Given the description of an element on the screen output the (x, y) to click on. 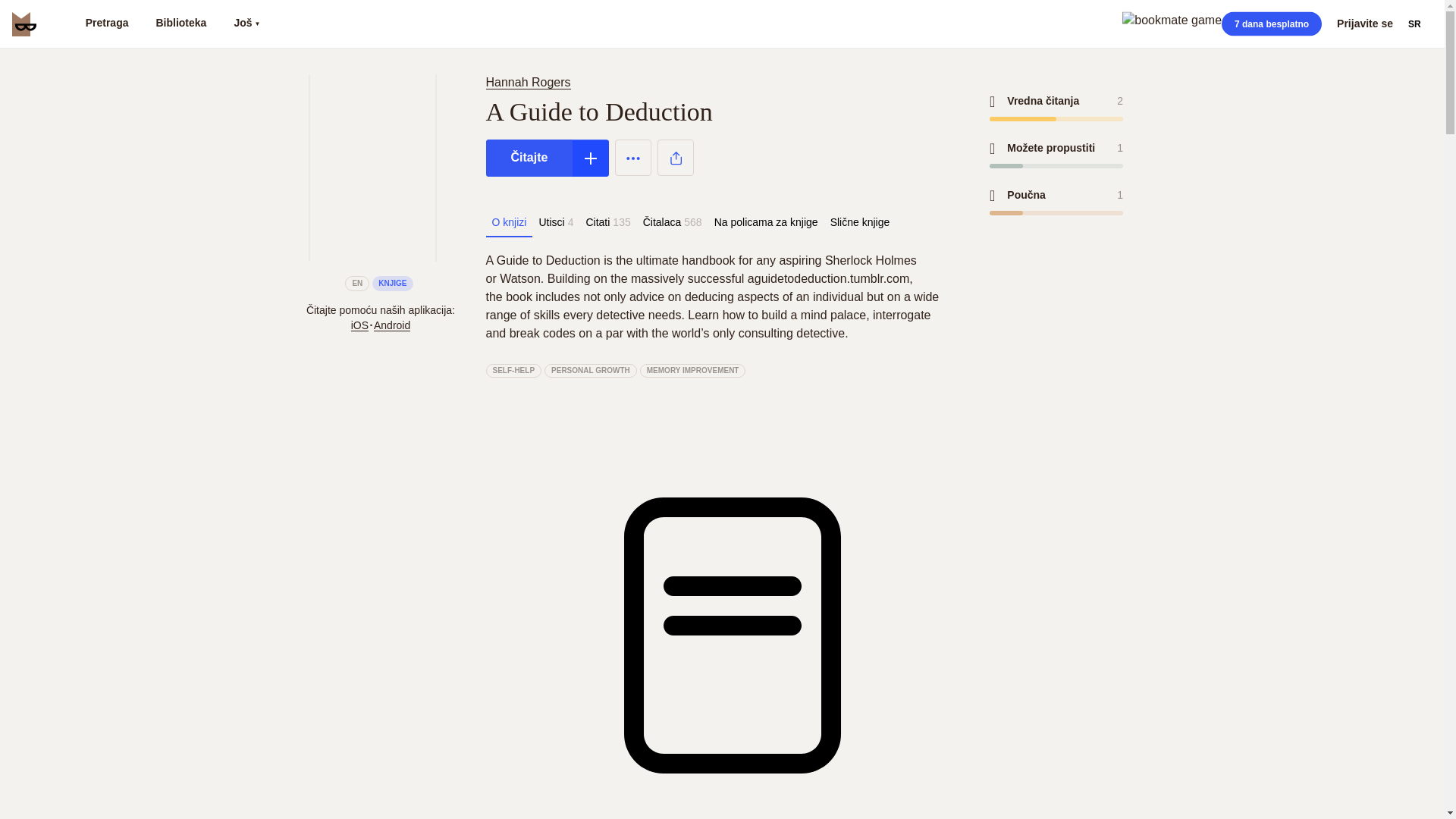
Hannah Rogers (530, 82)
SELF-HELP (512, 370)
Citati135 (607, 222)
Pretraga (106, 24)
O knjizi (508, 222)
PERSONAL GROWTH (590, 370)
Na policama za knjige (765, 222)
7 dana besplatno (1271, 23)
Utisci4 (555, 222)
MEMORY IMPROVEMENT (692, 370)
